Given the description of an element on the screen output the (x, y) to click on. 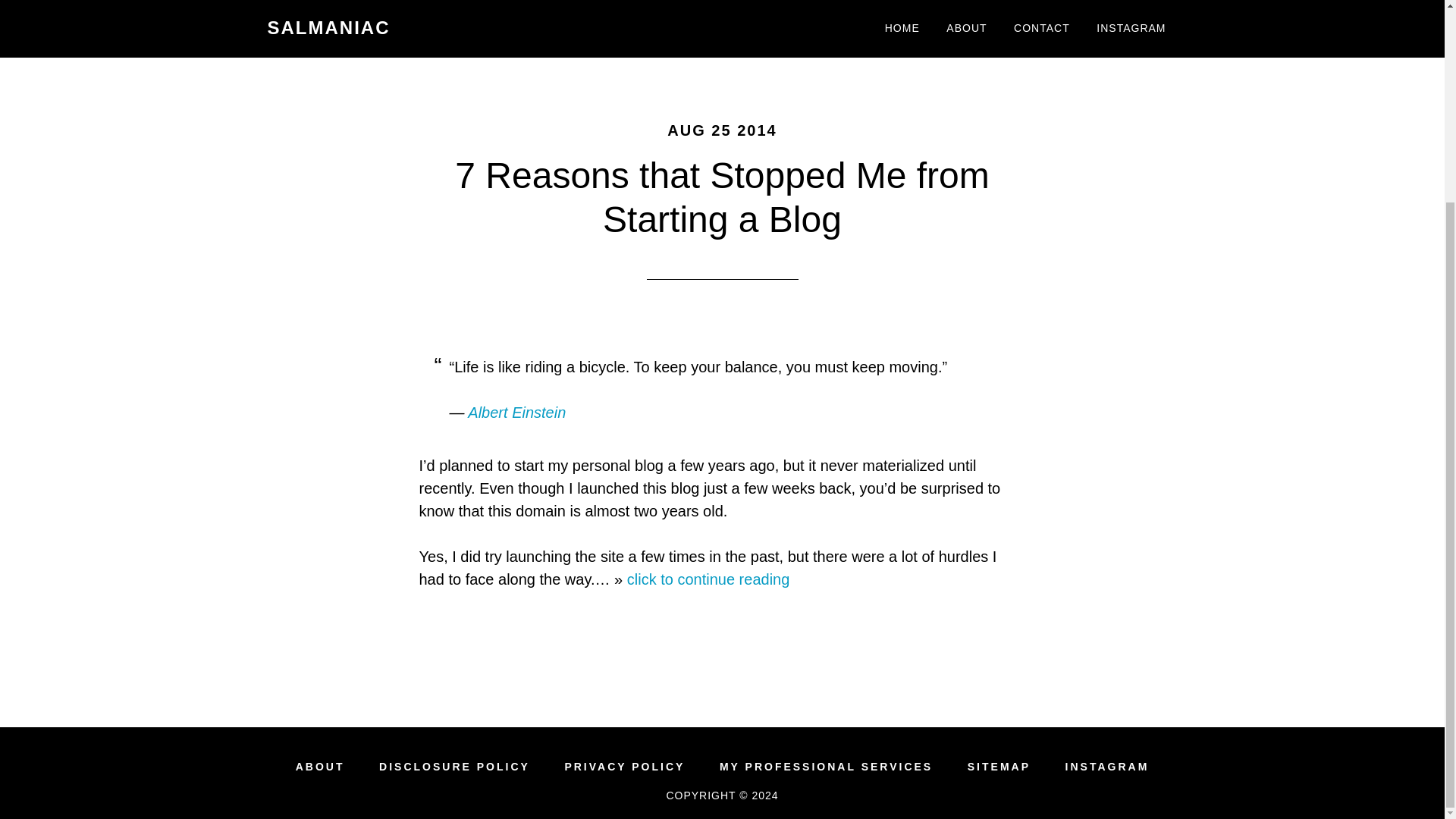
PRIVACY POLICY (624, 766)
MY PROFESSIONAL SERVICES (826, 766)
SITEMAP (999, 766)
DISCLOSURE POLICY (453, 766)
7 Reasons that Stopped Me from Starting a Blog (721, 197)
Albert Einstein (516, 412)
INSTAGRAM (1107, 766)
ABOUT (320, 766)
Albert Einstein Quote Citation (516, 412)
